Given the description of an element on the screen output the (x, y) to click on. 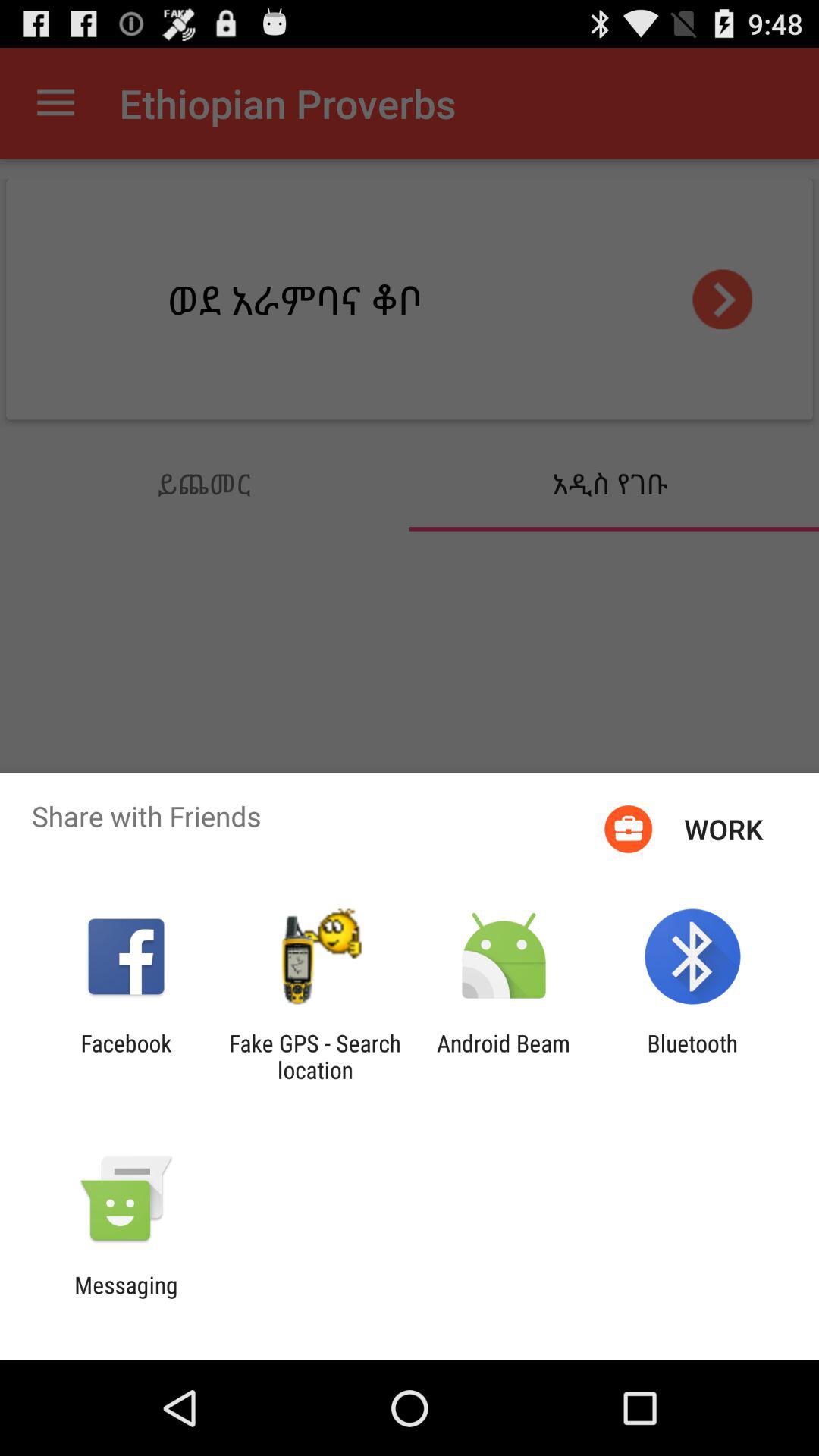
swipe to bluetooth app (692, 1056)
